Given the description of an element on the screen output the (x, y) to click on. 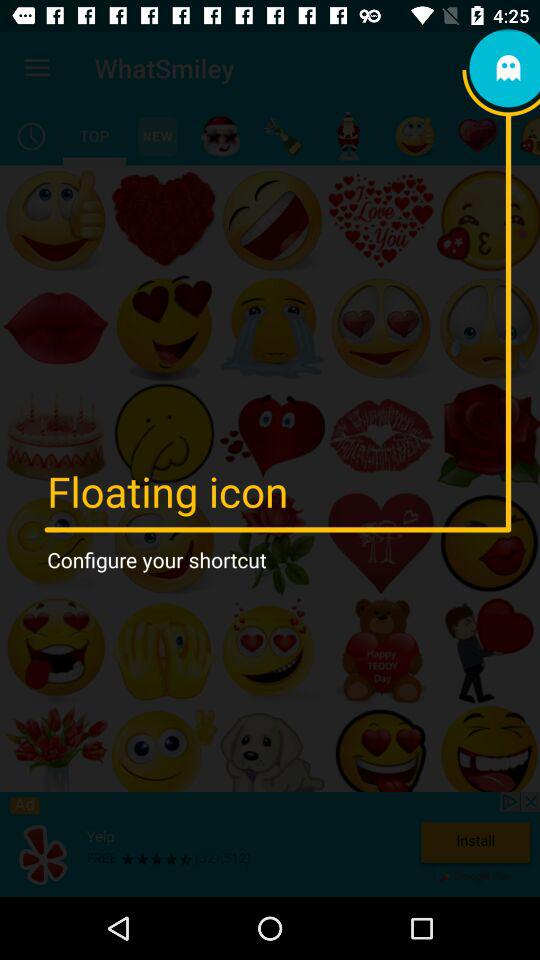
click on the timer (31, 136)
